Given the description of an element on the screen output the (x, y) to click on. 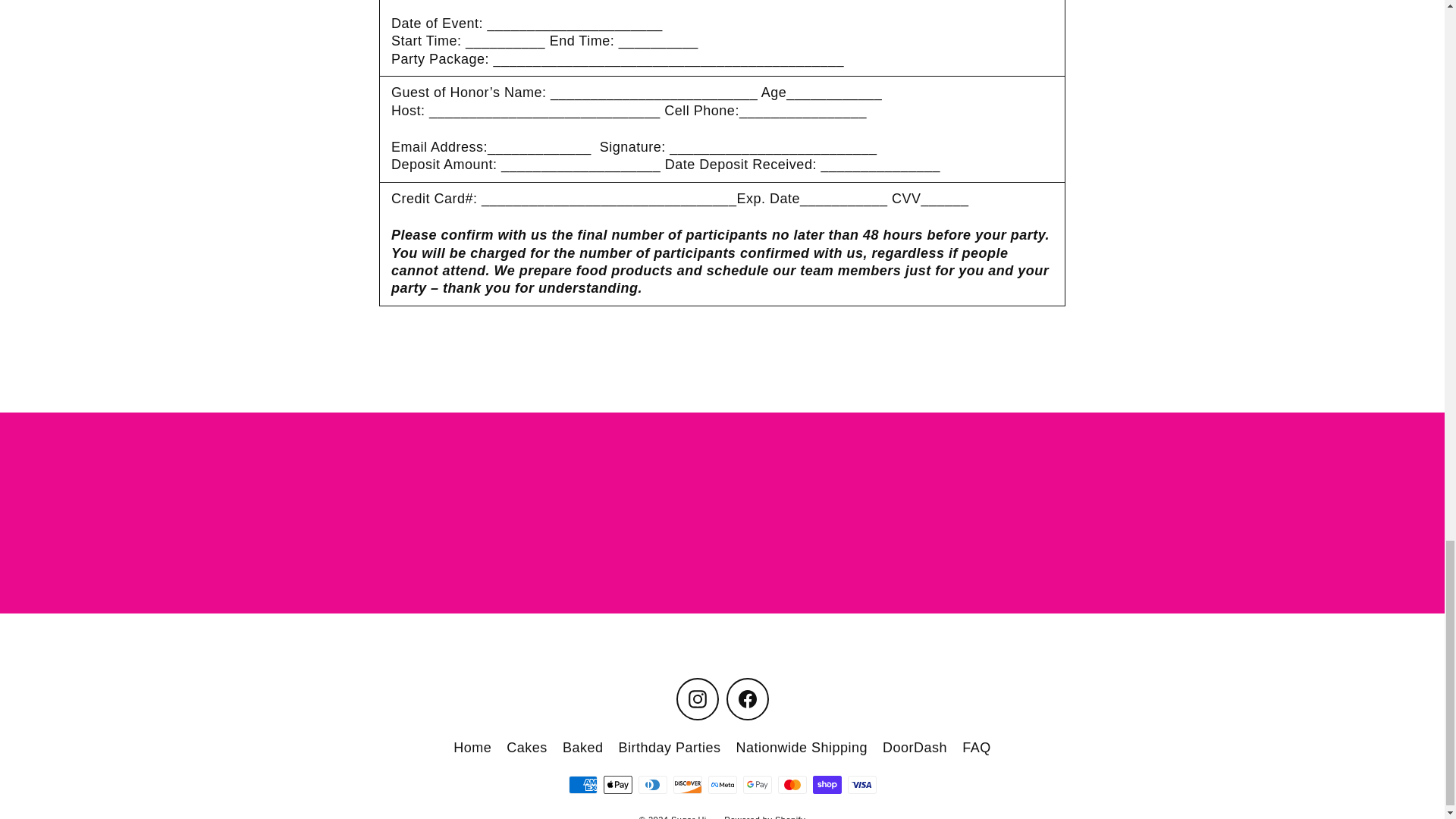
Meta Pay (721, 784)
Apple Pay (617, 784)
American Express (582, 784)
Diners Club (652, 784)
Visa (861, 784)
Sugar Hi on Instagram (698, 699)
Sugar Hi on Facebook (747, 699)
Mastercard (791, 784)
Discover (686, 784)
Shop Pay (826, 784)
Google Pay (756, 784)
